Given the description of an element on the screen output the (x, y) to click on. 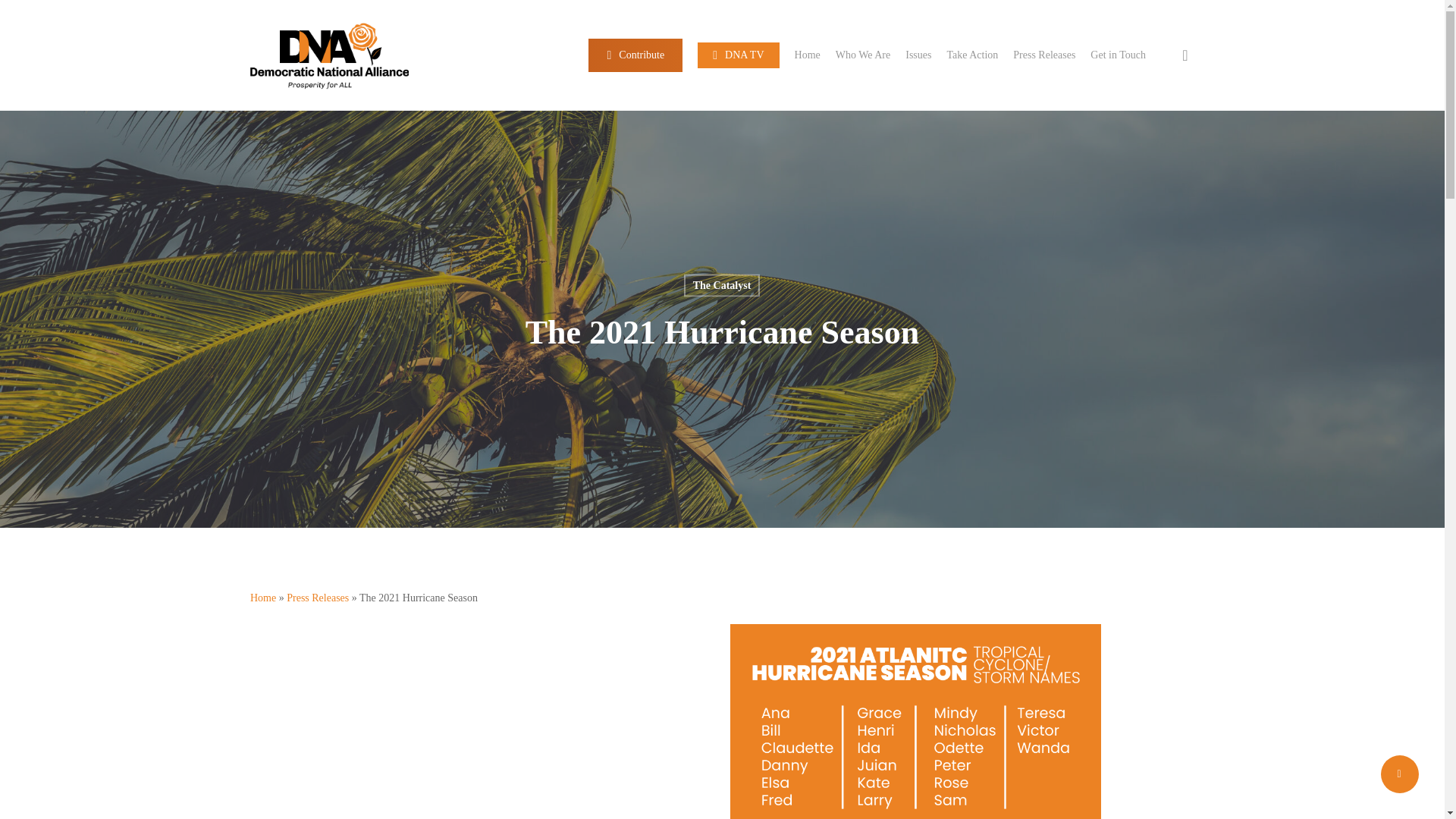
Contribute (635, 55)
Issues (918, 55)
Who We Are (862, 55)
DNA TV (737, 55)
Press Releases (317, 597)
The Catalyst (722, 285)
Home (263, 597)
Take Action (971, 55)
Get in Touch (1117, 55)
Home (807, 55)
